Given the description of an element on the screen output the (x, y) to click on. 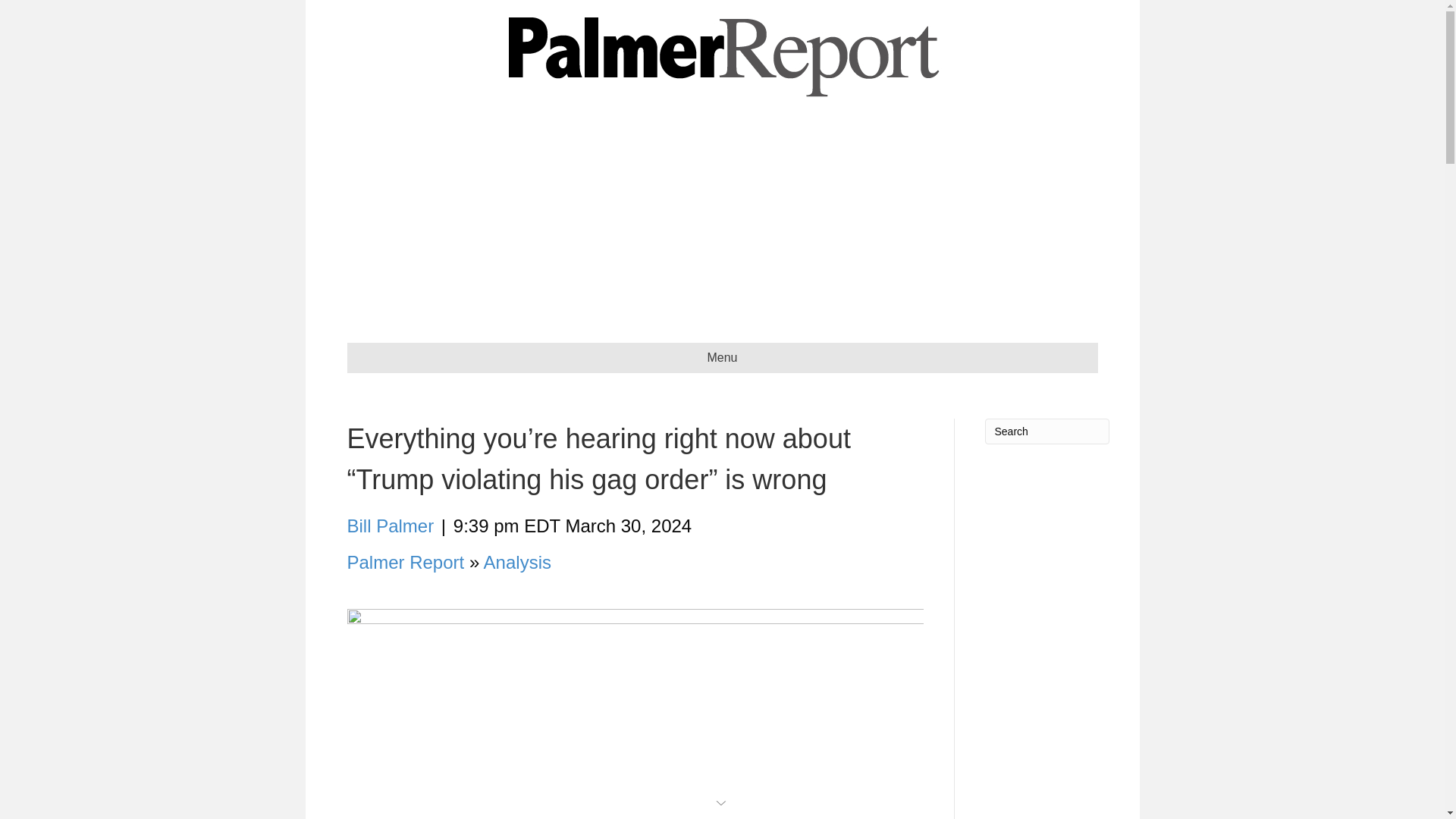
Ad.Plus Advertising (722, 801)
Palmer Report (405, 562)
Search (1046, 431)
Bill Palmer (390, 525)
Type and press Enter to search. (1046, 431)
Analysis (517, 562)
Menu (722, 358)
Search (1046, 431)
Posts by Bill Palmer (390, 525)
